Given the description of an element on the screen output the (x, y) to click on. 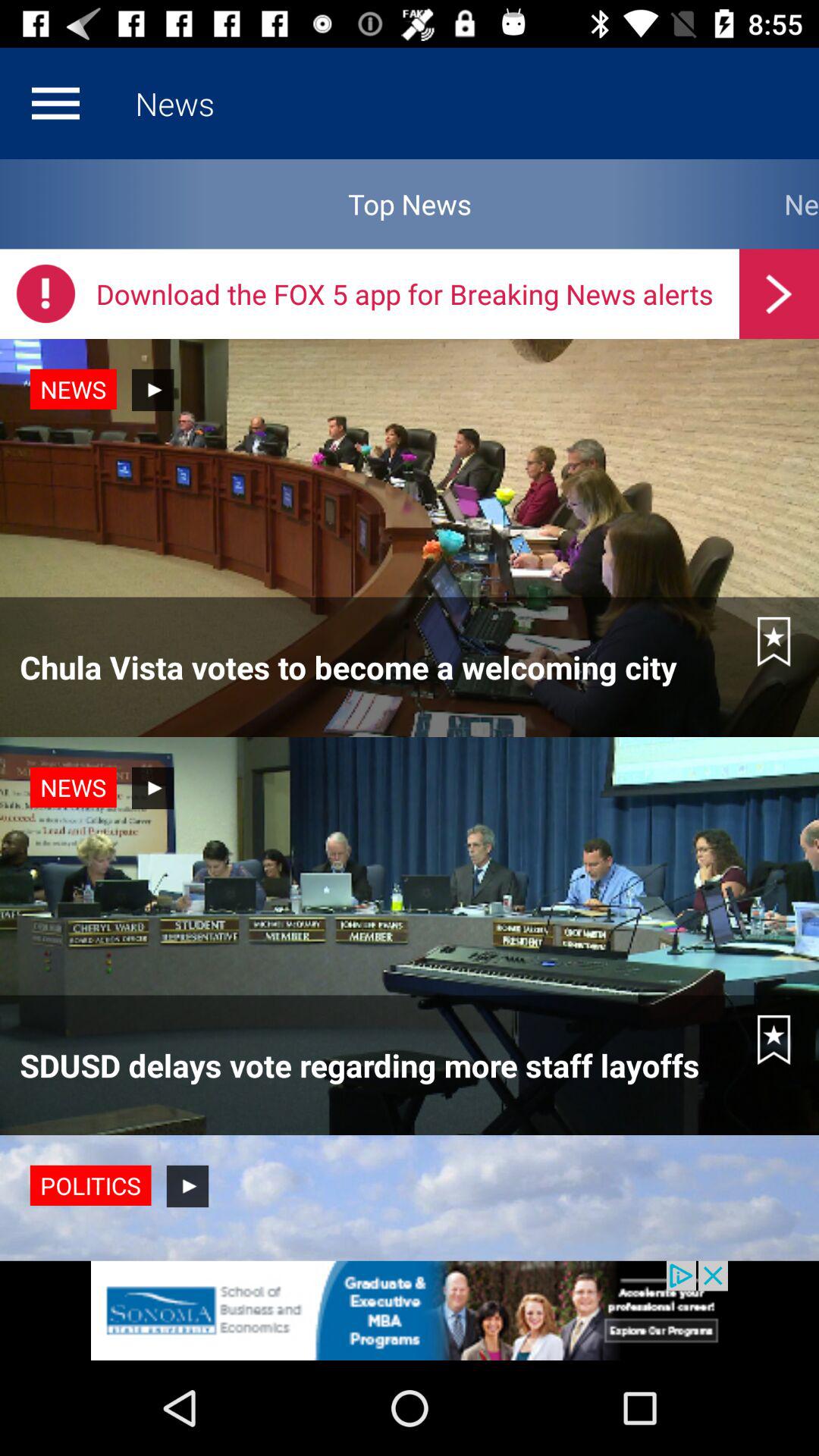
go to the advertisement page (409, 1310)
